Given the description of an element on the screen output the (x, y) to click on. 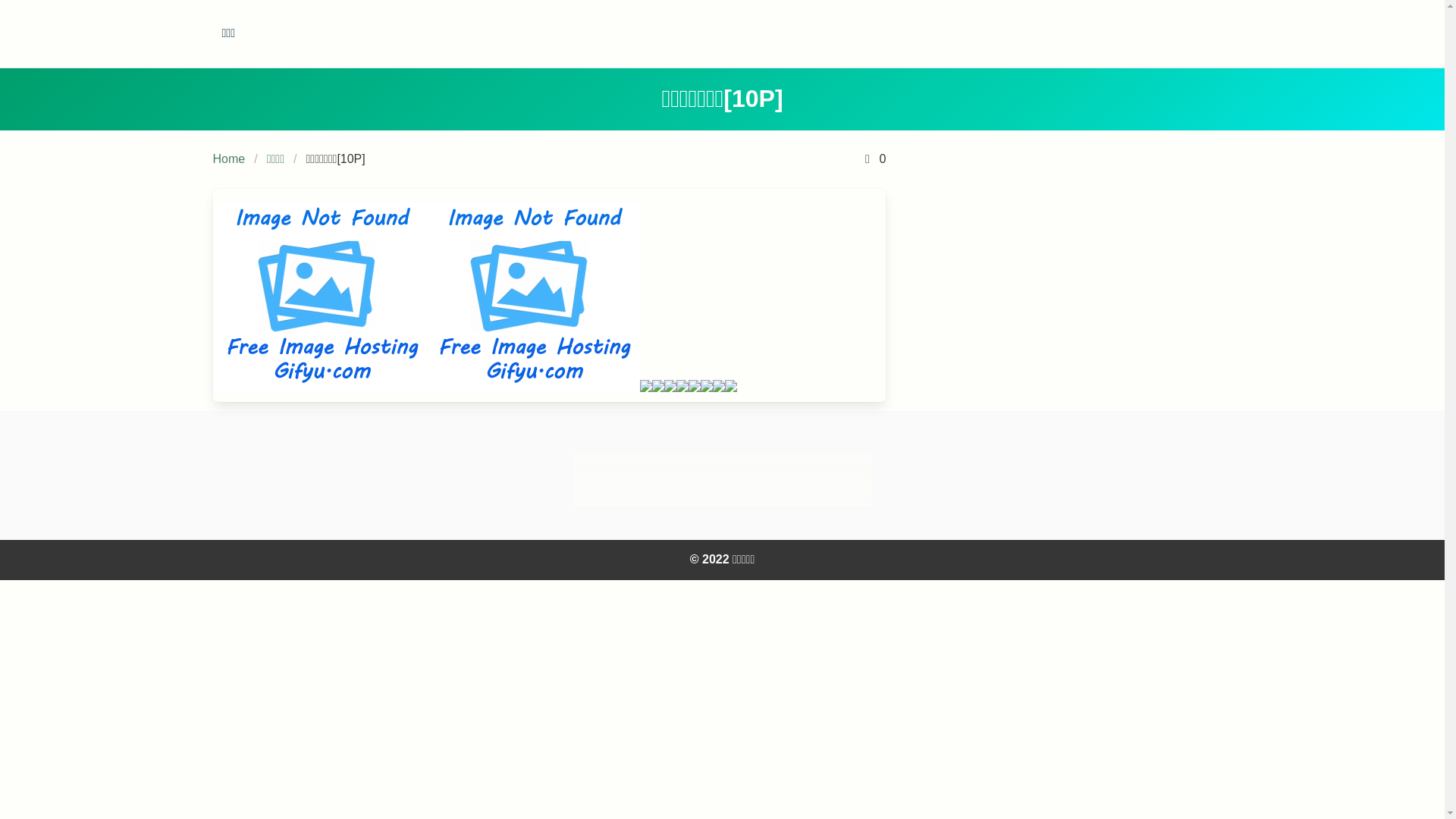
0 Element type: text (872, 159)
Home Element type: text (233, 159)
